Given the description of an element on the screen output the (x, y) to click on. 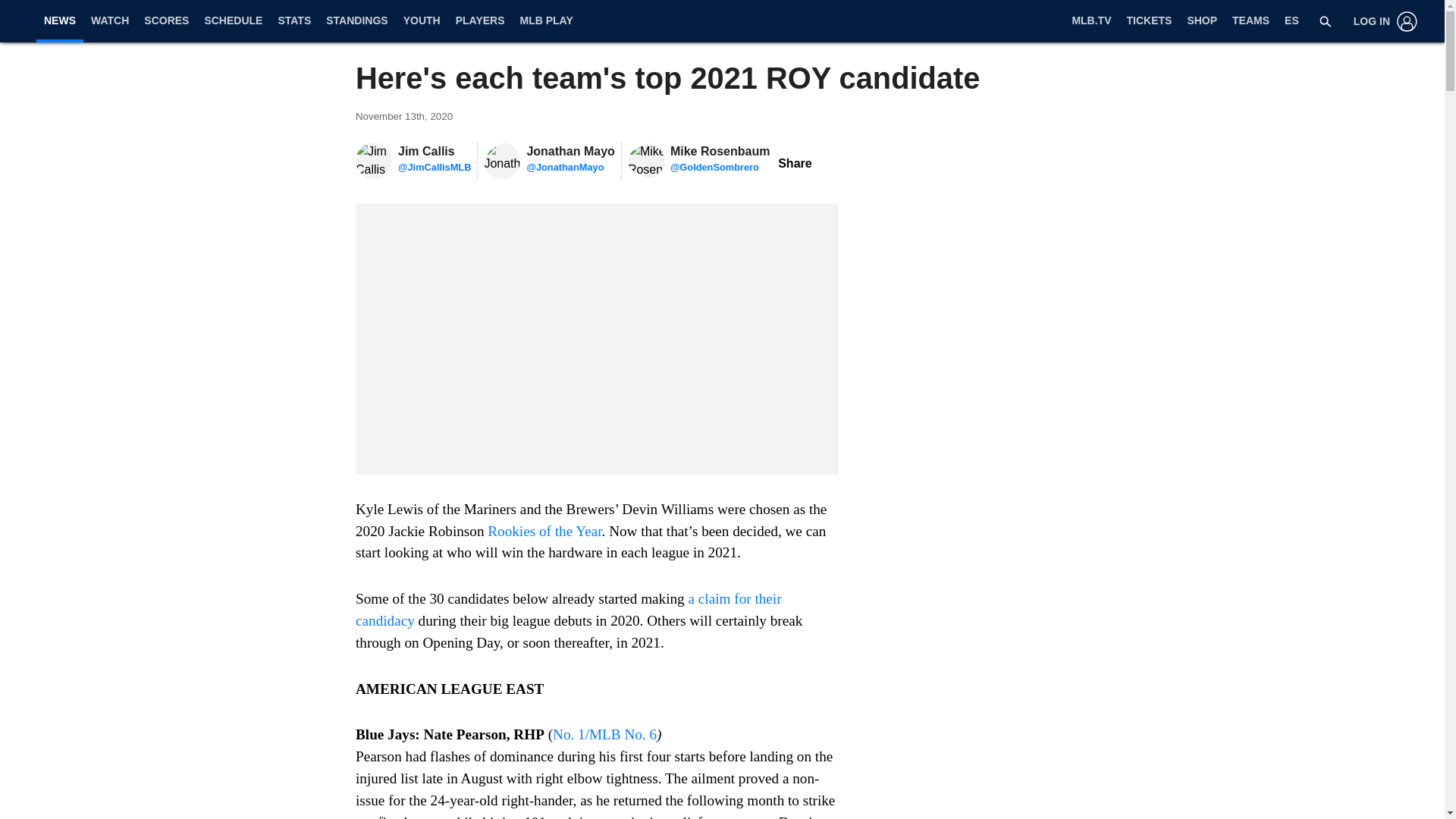
SCHEDULE (232, 21)
SCORES (166, 21)
STANDINGS (356, 21)
NEWS (59, 19)
YOUTH (422, 21)
search-88782 (1325, 21)
WATCH (109, 21)
STATS (293, 21)
